Given the description of an element on the screen output the (x, y) to click on. 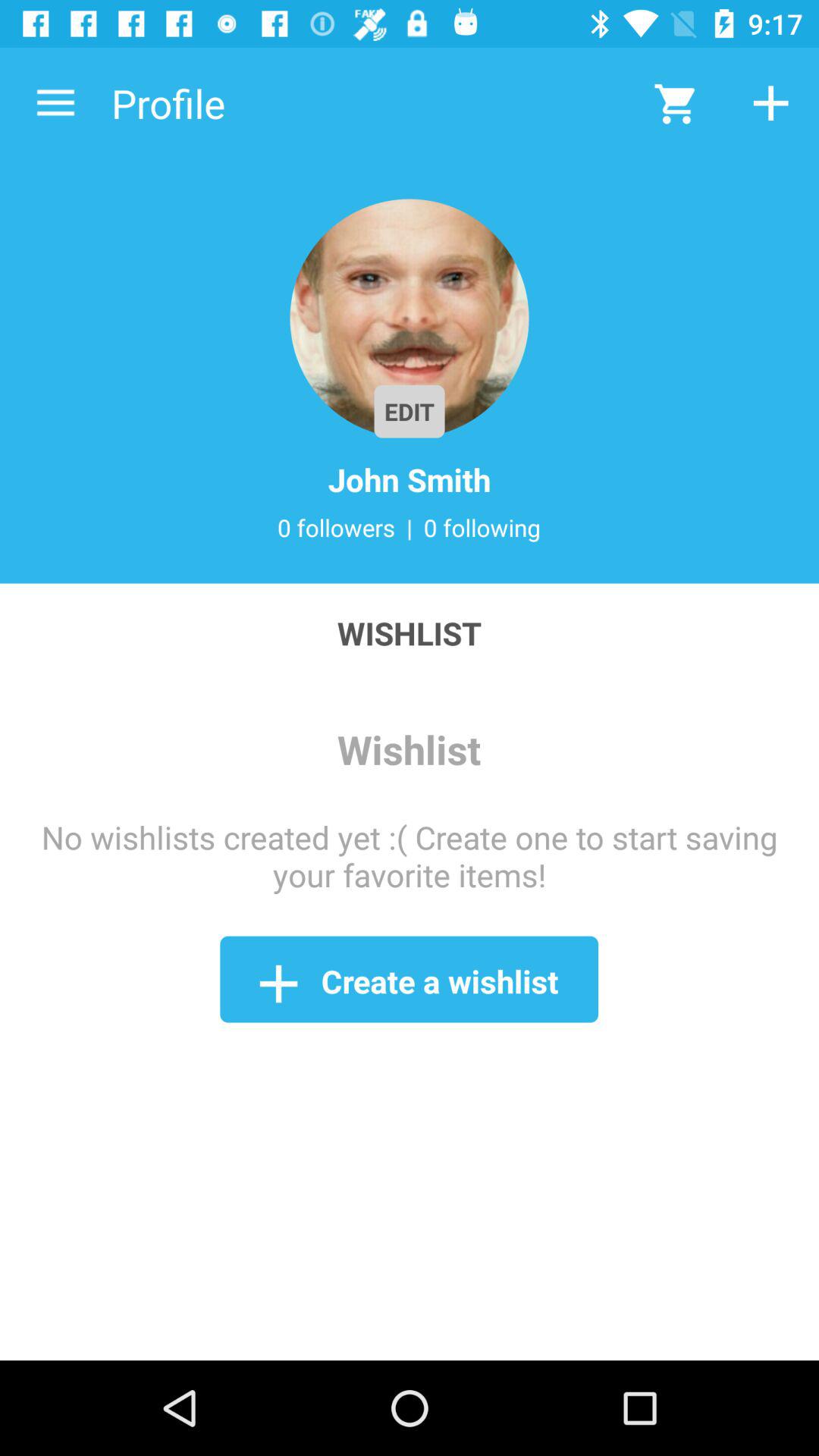
jump to the edit item (409, 411)
